Given the description of an element on the screen output the (x, y) to click on. 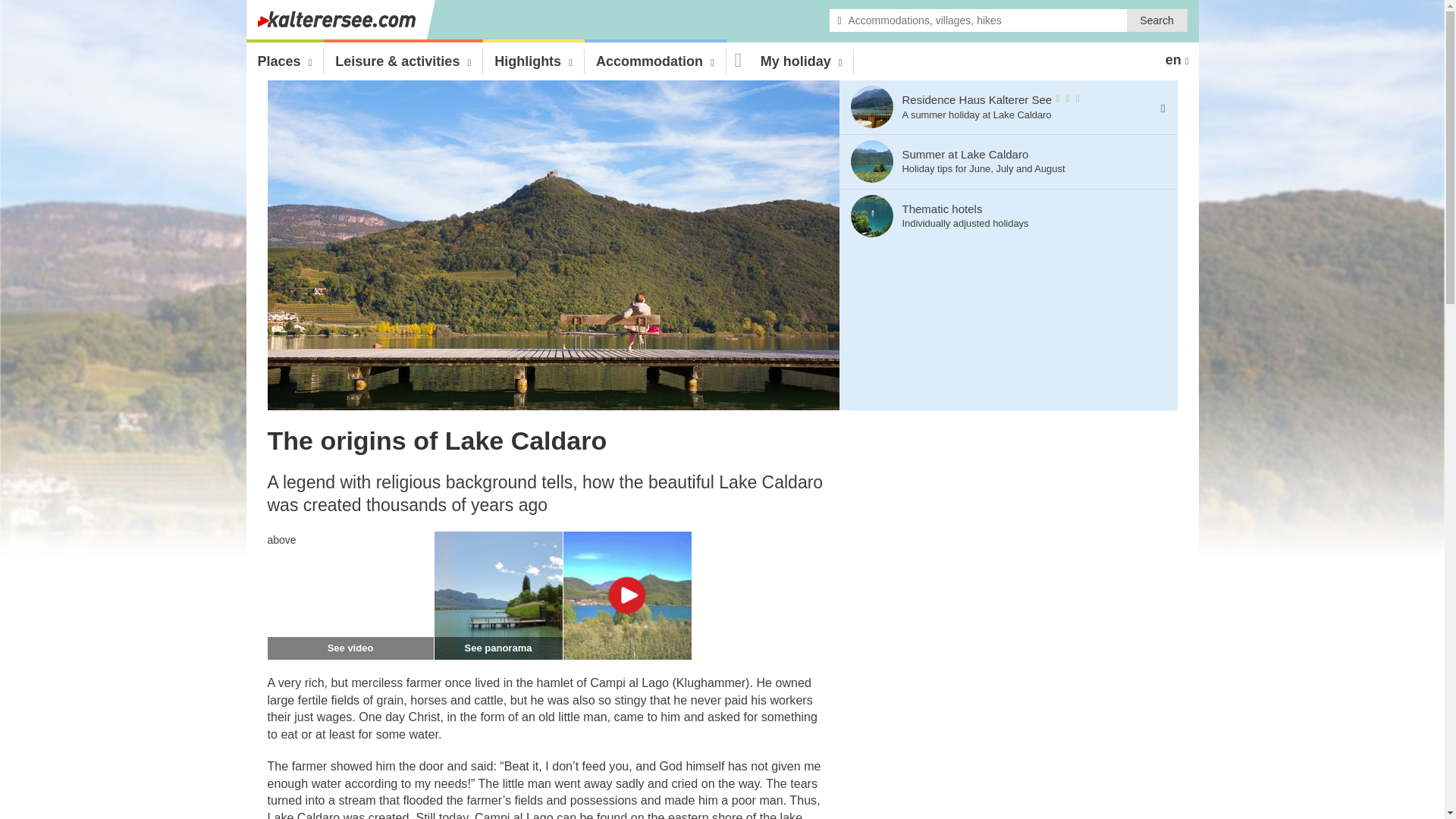
Lake Caldaro (342, 21)
Lake Caldaro at the end of May (497, 655)
Holiday tips for June, July and August (871, 162)
Individually adjusted holidays (999, 107)
A summer holiday at Lake Caldaro (871, 216)
See panorama (871, 107)
See video (999, 216)
Places (497, 655)
